Given the description of an element on the screen output the (x, y) to click on. 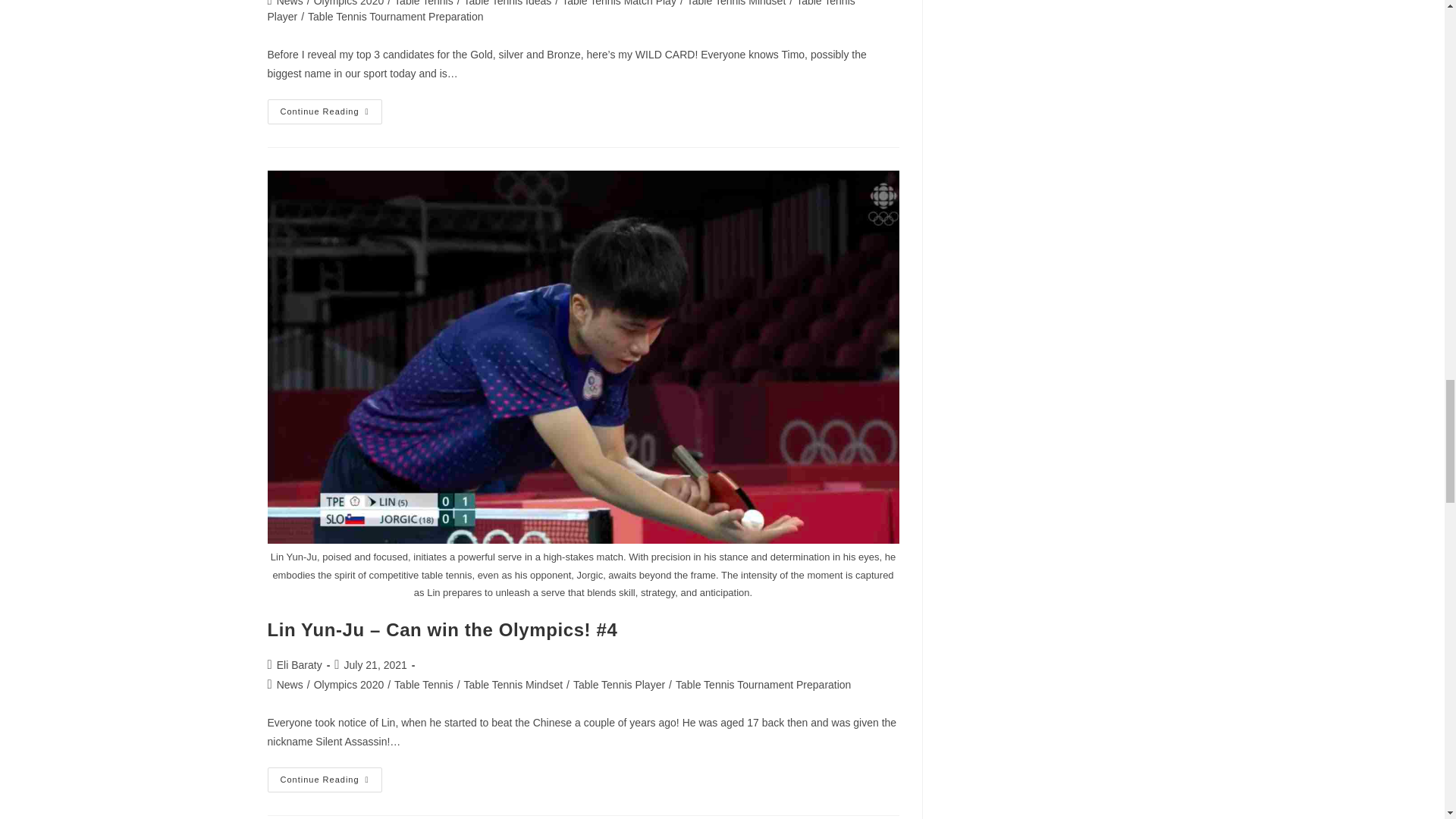
Posts by Eli Baraty (298, 664)
